Given the description of an element on the screen output the (x, y) to click on. 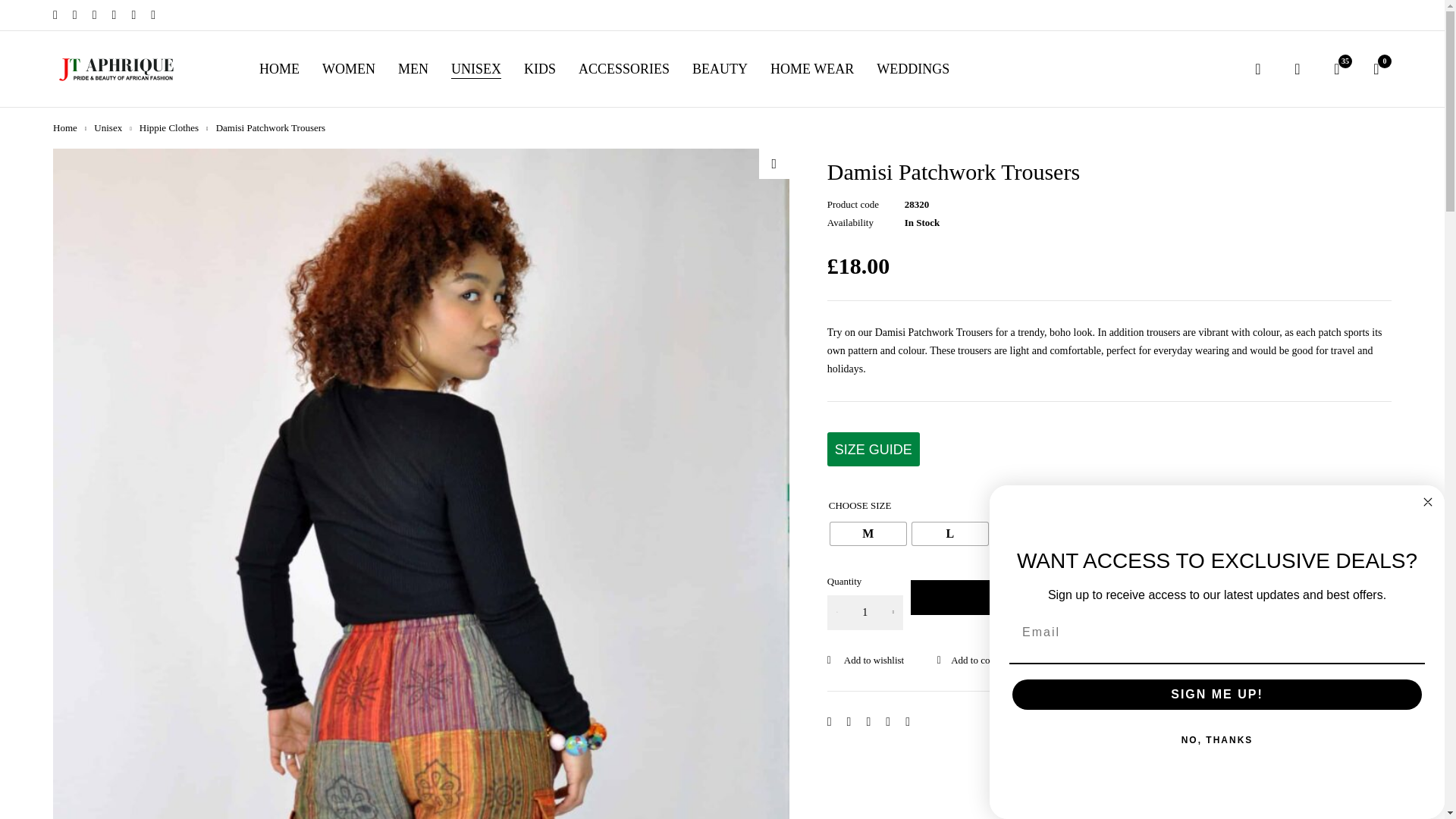
HOME (279, 68)
L (950, 533)
Close dialog 1 (1427, 502)
Loobek (117, 68)
XL (1113, 533)
MEN (412, 68)
S (1032, 533)
WOMEN (348, 68)
- (837, 612)
View your shopping cart (1376, 68)
Wishlist (1337, 68)
XXL (1195, 533)
M (867, 533)
1 (864, 612)
